Given the description of an element on the screen output the (x, y) to click on. 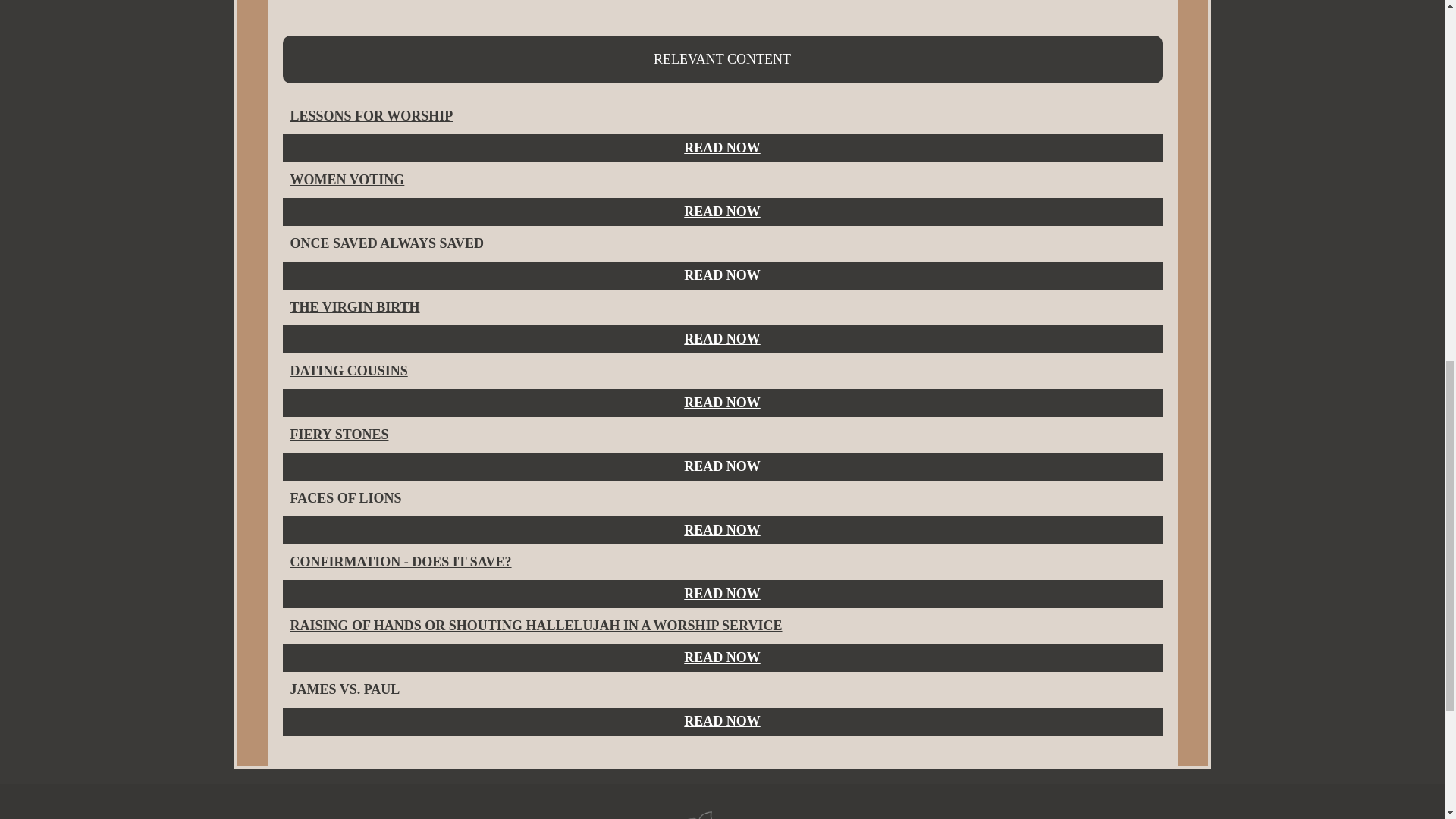
WOMEN VOTING (346, 179)
READ NOW (722, 593)
JAMES VS. PAUL (343, 688)
FACES OF LIONS (345, 498)
ONCE SAVED ALWAYS SAVED (386, 242)
CONFIRMATION - DOES IT SAVE? (400, 561)
DATING COUSINS (348, 370)
READ NOW (722, 529)
THE VIRGIN BIRTH (354, 306)
READ NOW (722, 657)
